Given the description of an element on the screen output the (x, y) to click on. 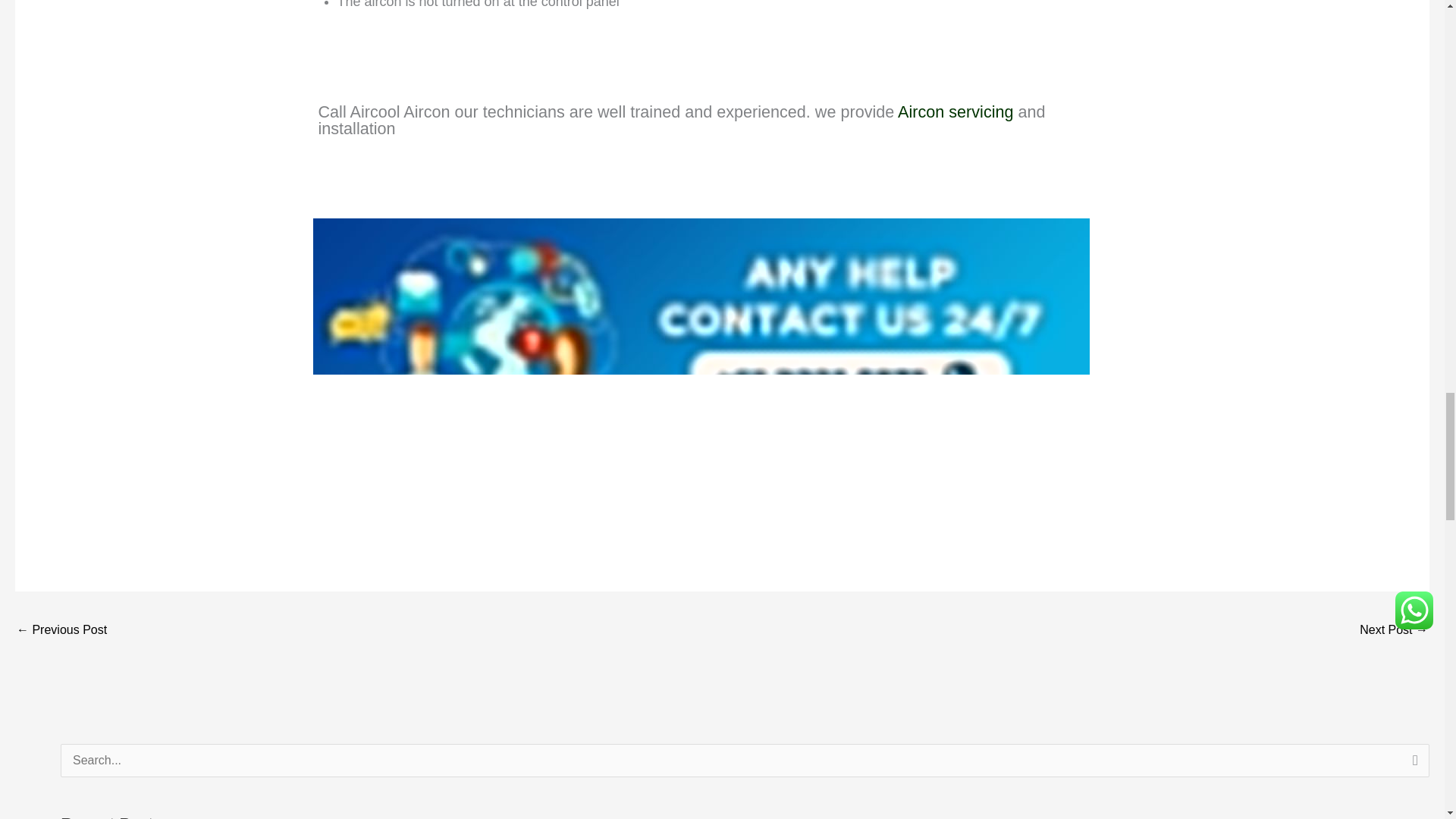
Aircon servicing (955, 115)
What is done during aircon servicing? (1393, 631)
7 Common Aircon Installation Mistakes To Avoid (61, 631)
Aircon servicing (955, 115)
